Given the description of an element on the screen output the (x, y) to click on. 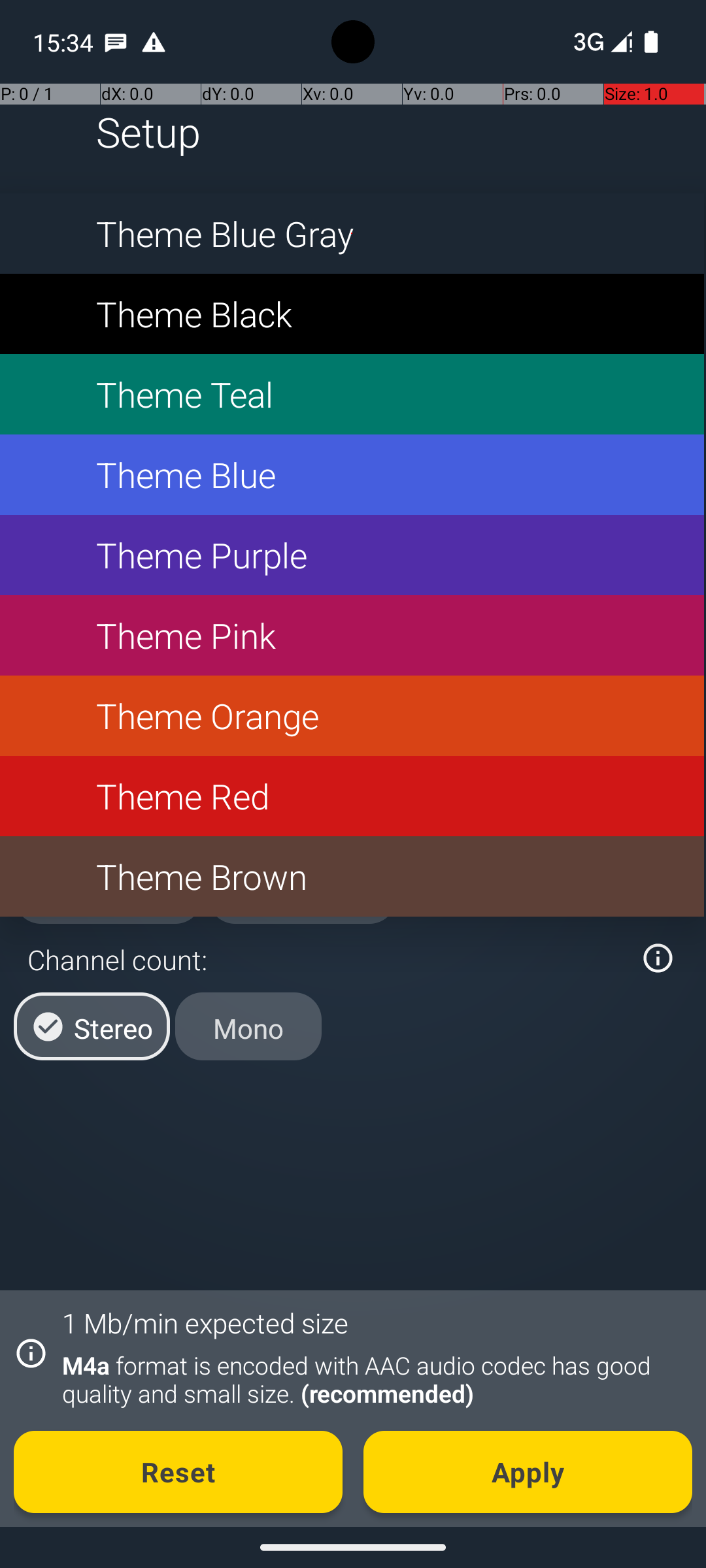
Theme Blue Gray Element type: android.widget.TextView (352, 233)
Theme Black Element type: android.widget.TextView (352, 313)
Theme Teal Element type: android.widget.TextView (352, 394)
Theme Blue Element type: android.widget.TextView (352, 474)
Theme Purple Element type: android.widget.TextView (352, 554)
Theme Pink Element type: android.widget.TextView (352, 635)
Theme Orange Element type: android.widget.TextView (352, 715)
Theme Red Element type: android.widget.TextView (352, 795)
Theme Brown Element type: android.widget.TextView (352, 876)
SMS Messenger notification:  Element type: android.widget.ImageView (115, 41)
Android System notification: Data warning Element type: android.widget.ImageView (153, 41)
Phone signal full. Element type: android.widget.FrameLayout (600, 41)
